Given the description of an element on the screen output the (x, y) to click on. 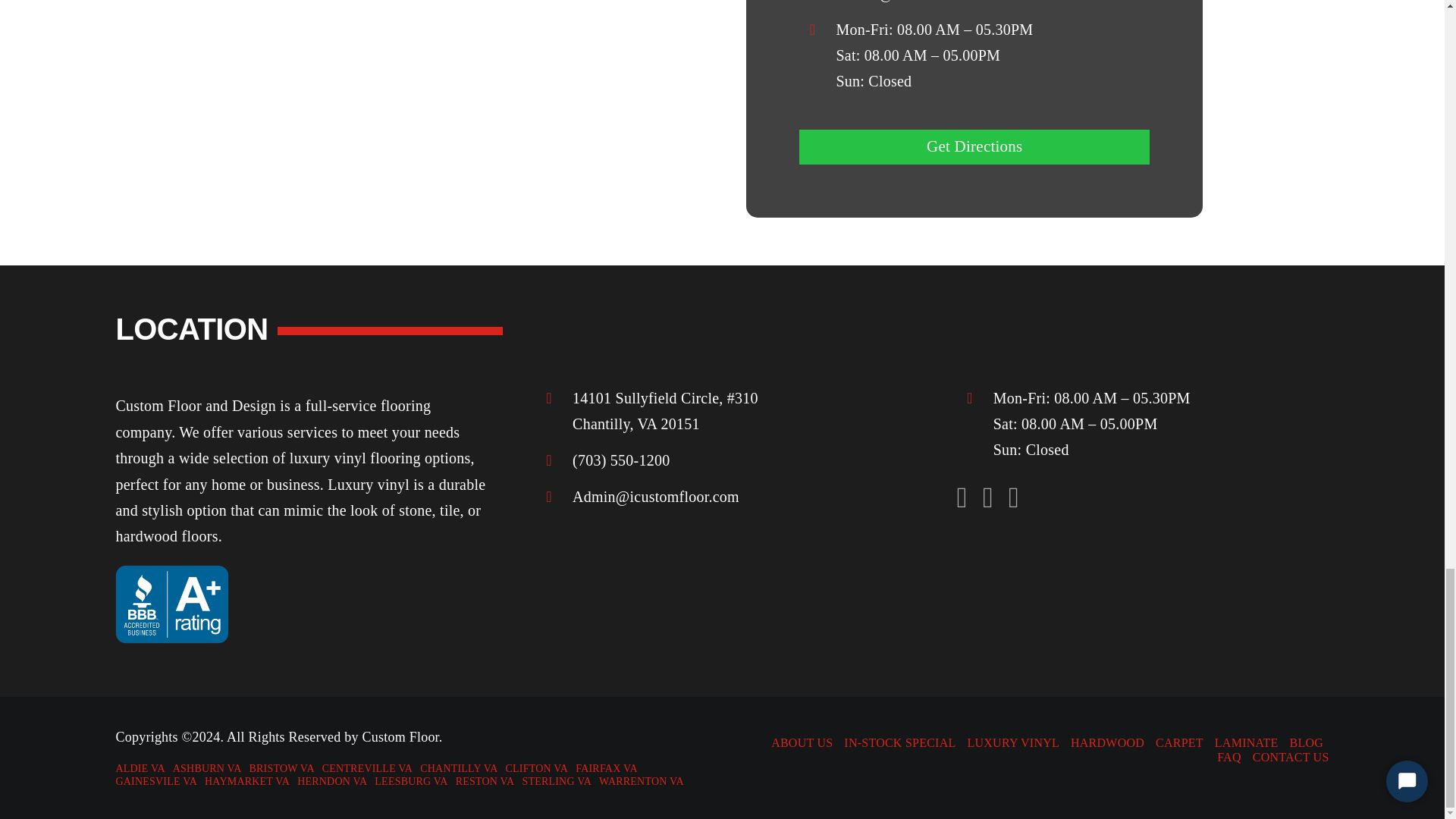
CENTREVILLE VA (370, 768)
CHANTILLY VA (462, 768)
FAIRFAX VA (610, 768)
CLIFTON VA (540, 768)
BRISTOW VA (284, 768)
ALDIE VA (143, 768)
Get Directions (974, 146)
ASHBURN VA (210, 768)
GAINESVILE VA (160, 781)
